Given the description of an element on the screen output the (x, y) to click on. 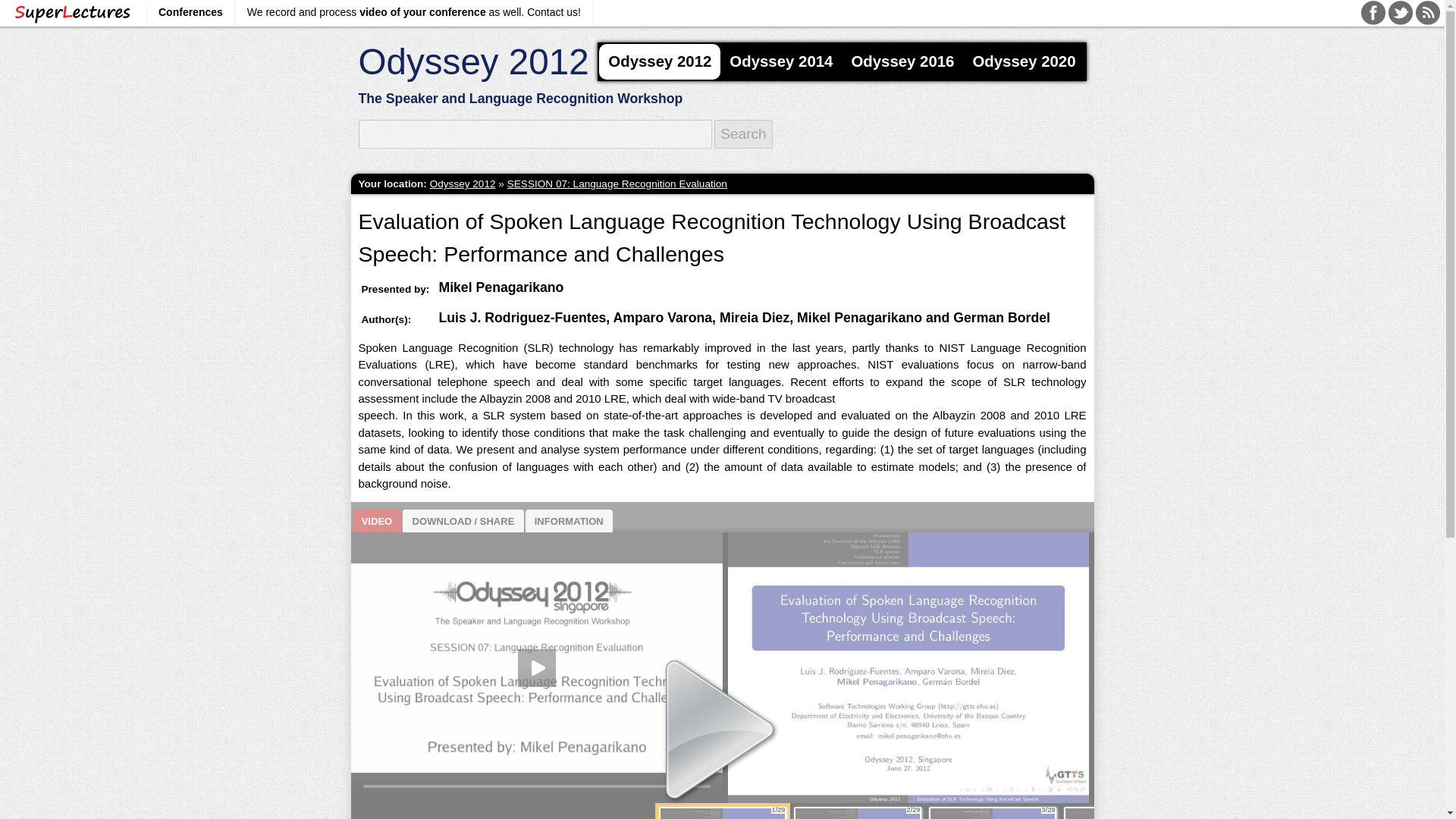
Conferences (190, 15)
SuperLectures Blog (1427, 12)
SuperLectures on Twitter (1400, 12)
SuperLectures on FaceBook (1373, 12)
SESSION 07: Language Recognition Evaluation (616, 183)
Odyssey 2016 (901, 61)
Go to SuperLectures (72, 12)
Odyssey 2014 (780, 61)
INFORMATION (568, 520)
Odyssey 2012 (473, 61)
Odyssey 2020 (1023, 61)
Search (742, 133)
Search (742, 133)
VIDEO (376, 520)
